Given the description of an element on the screen output the (x, y) to click on. 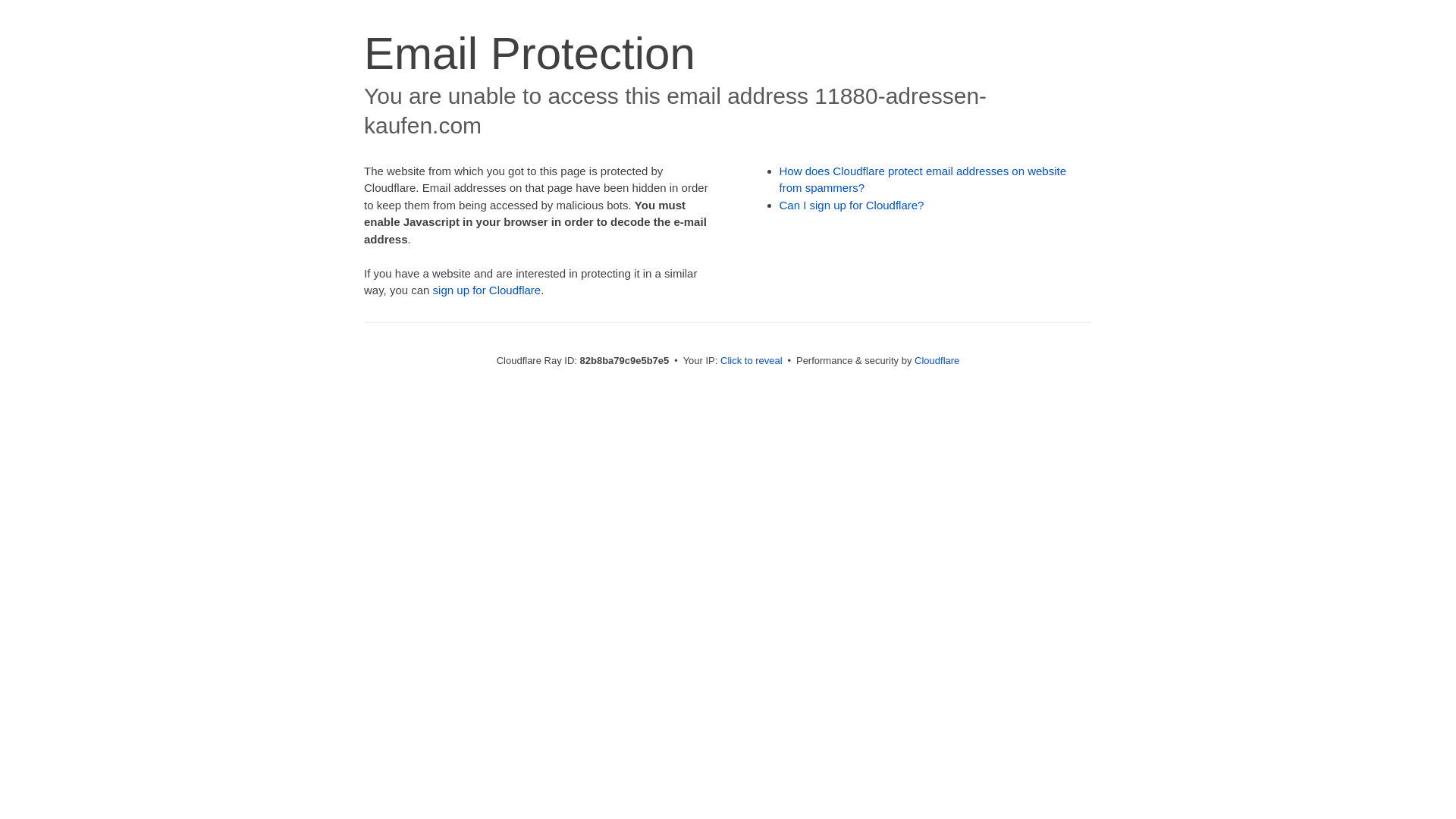
Can I sign up for Cloudflare? Element type: text (851, 204)
Click to reveal Element type: text (751, 360)
Cloudflare Element type: text (936, 360)
sign up for Cloudflare Element type: text (487, 289)
